Given the description of an element on the screen output the (x, y) to click on. 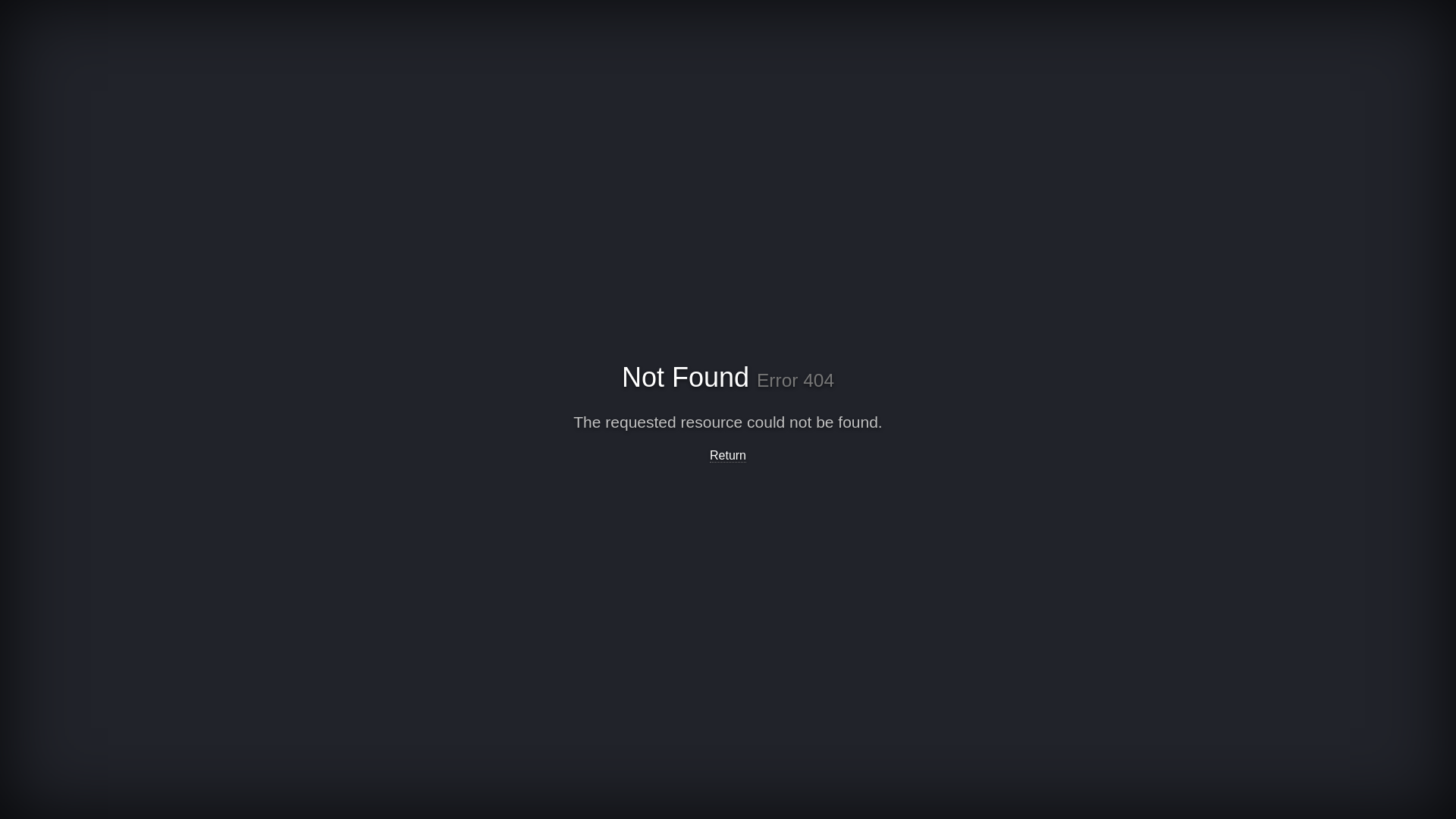
Return Element type: text (727, 455)
